Given the description of an element on the screen output the (x, y) to click on. 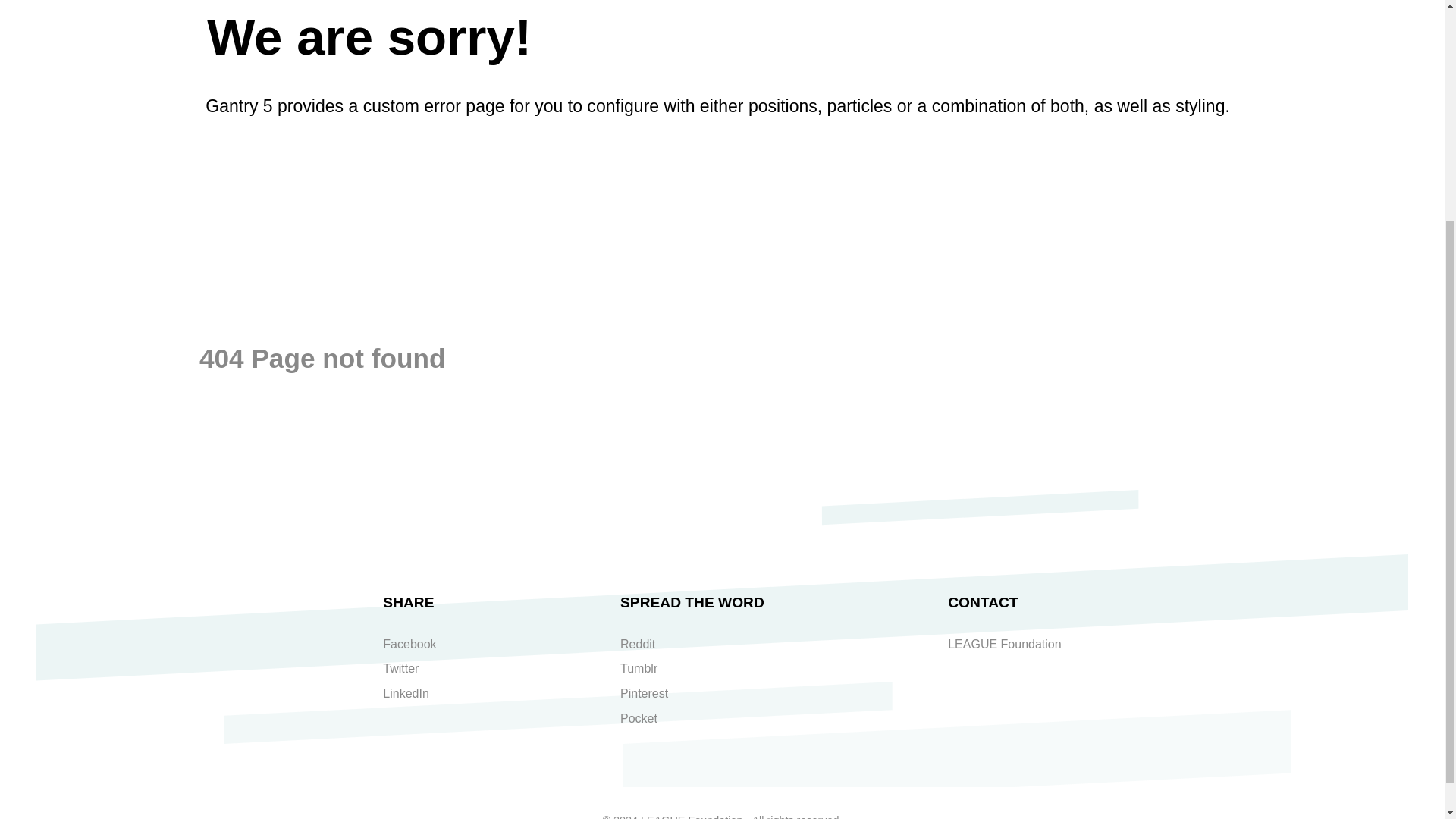
Facebook (408, 644)
Twitter (400, 667)
LinkedIn (405, 693)
Tumblr (639, 667)
LEAGUE Foundation (1004, 644)
Pinterest (644, 693)
Tumblr (639, 667)
Pocket (639, 717)
Reddit (637, 644)
Facebook (408, 644)
